Given the description of an element on the screen output the (x, y) to click on. 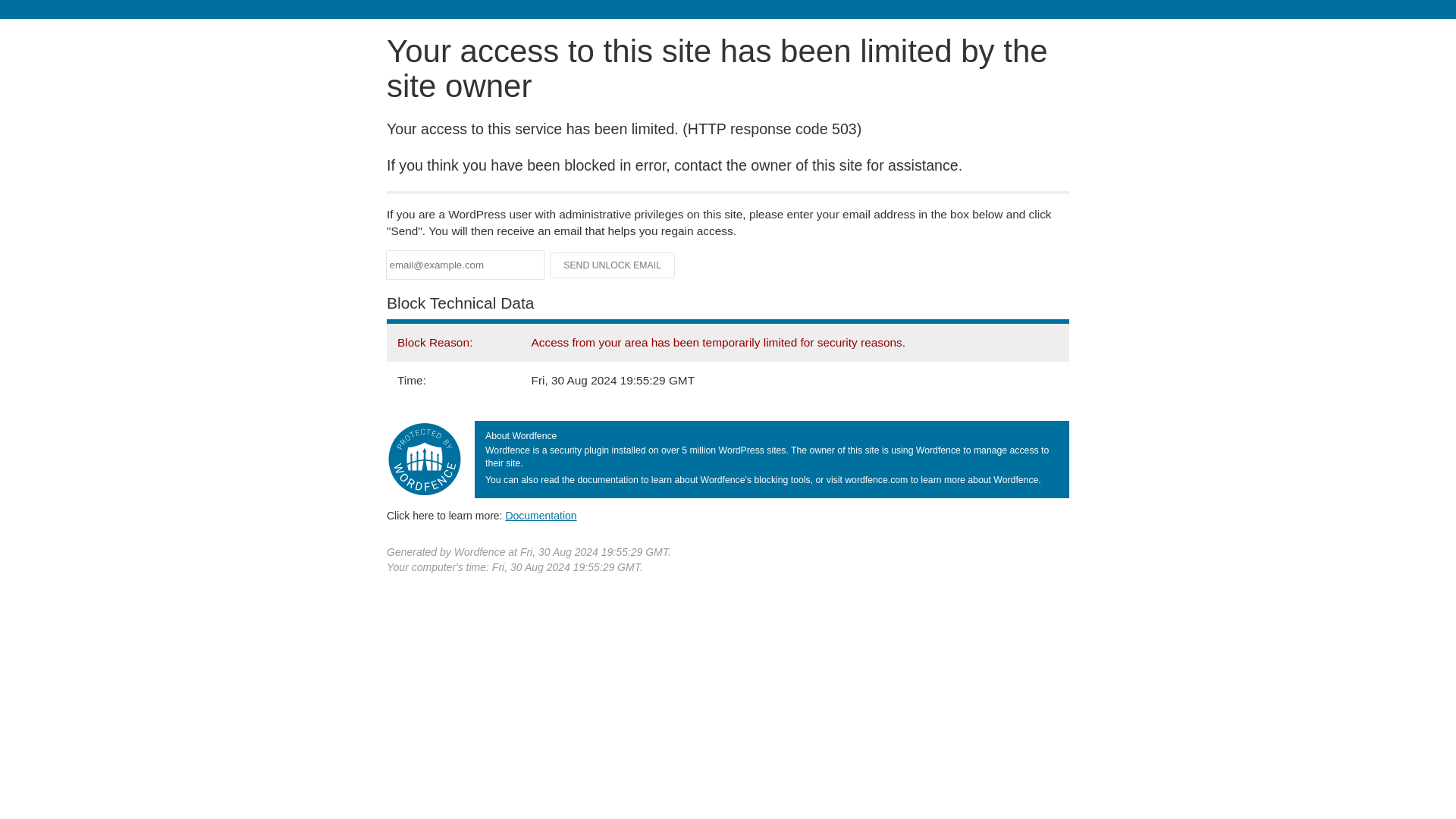
Send Unlock Email (612, 265)
Documentation (540, 515)
Send Unlock Email (612, 265)
